Given the description of an element on the screen output the (x, y) to click on. 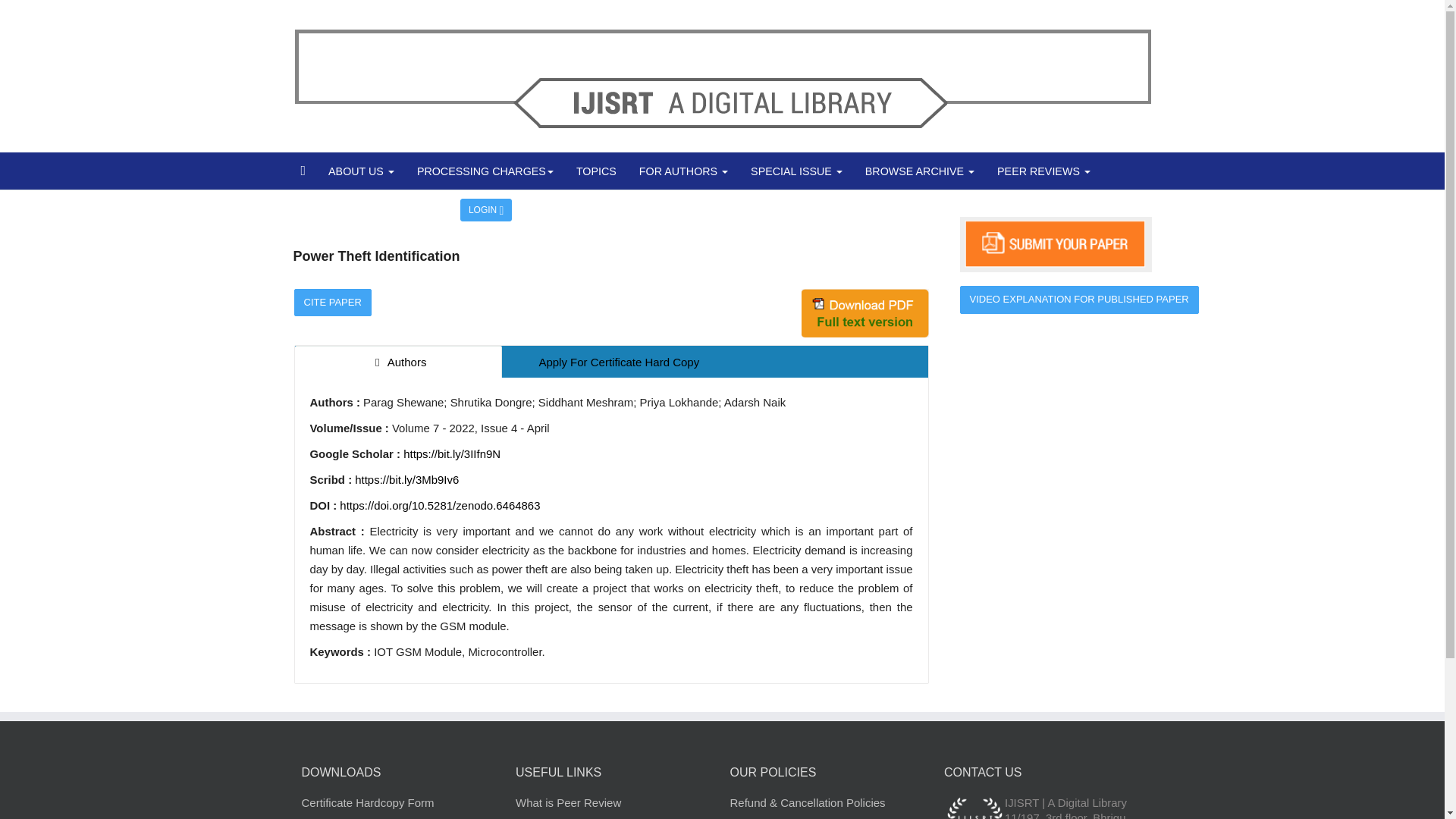
FOR AUTHORS (683, 171)
TOPICS (595, 171)
PROCESSING CHARGES (485, 171)
BROWSE ARCHIVE (919, 171)
Video Explanation for Published paper (1078, 299)
ABOUT US (361, 171)
SPECIAL ISSUE (796, 171)
